Given the description of an element on the screen output the (x, y) to click on. 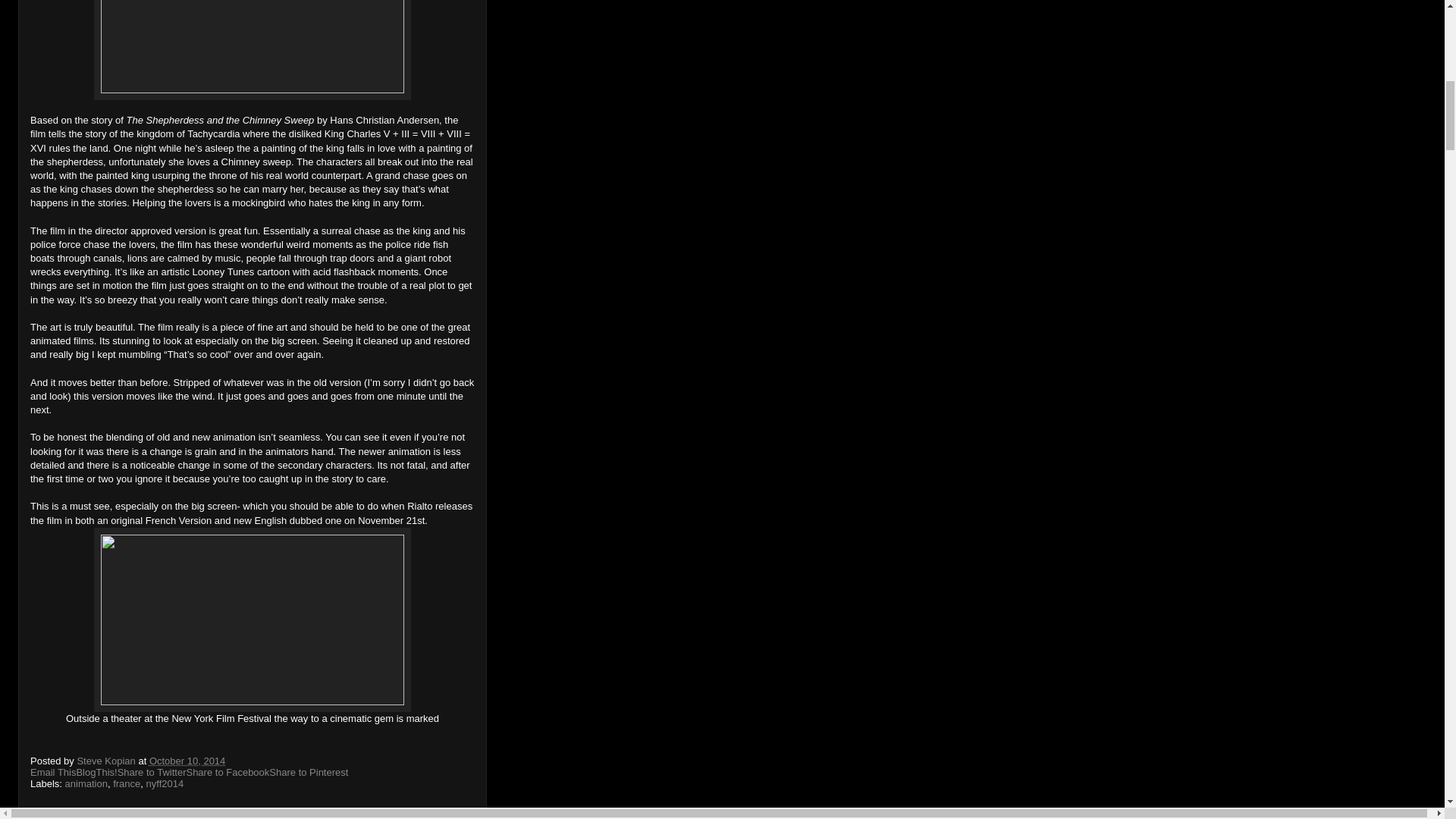
Share to Twitter (151, 772)
October 10, 2014 (187, 760)
Steve Kopian (107, 760)
Email Post (234, 760)
BlogThis! (95, 772)
Share to Pinterest (308, 772)
Share to Twitter (151, 772)
france (126, 783)
Share to Facebook (227, 772)
permanent link (187, 760)
BlogThis! (95, 772)
animation (86, 783)
Share to Pinterest (308, 772)
nyff2014 (165, 783)
Email This (52, 772)
